Given the description of an element on the screen output the (x, y) to click on. 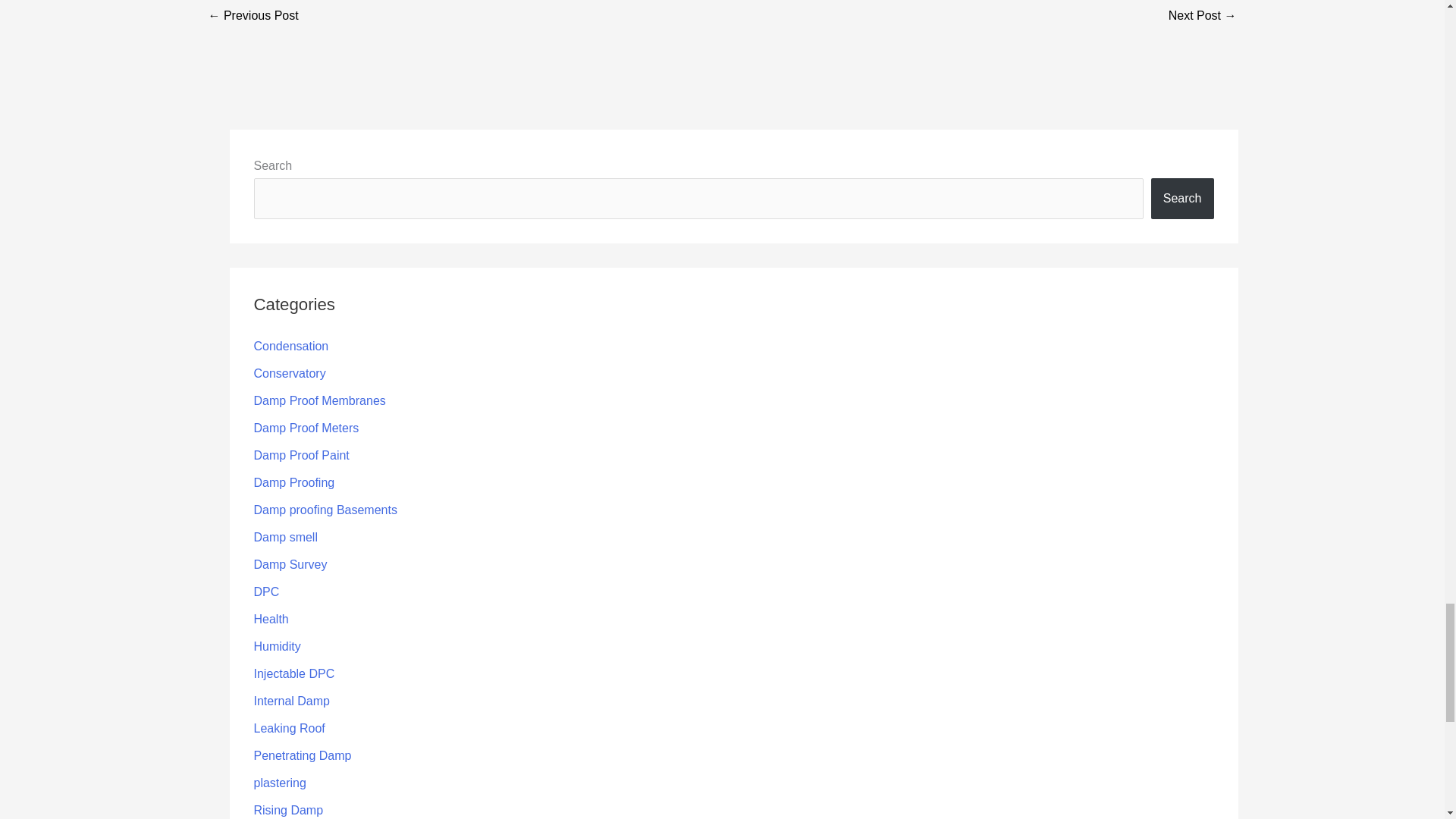
Conservatory (288, 373)
Humidity (276, 645)
Damp smell (285, 536)
DPC (266, 591)
Search (1182, 198)
Damp Proof Paint (301, 454)
Damp Proof Membranes (319, 400)
Damp Survey (289, 563)
Injectable DPC (293, 673)
Damp Proofing (293, 481)
Using Damp Meter Readings to Find Damp in a Property (253, 17)
Condensation (291, 345)
Damp Proof Meters (305, 427)
Damp proofing Basements (324, 509)
